Given the description of an element on the screen output the (x, y) to click on. 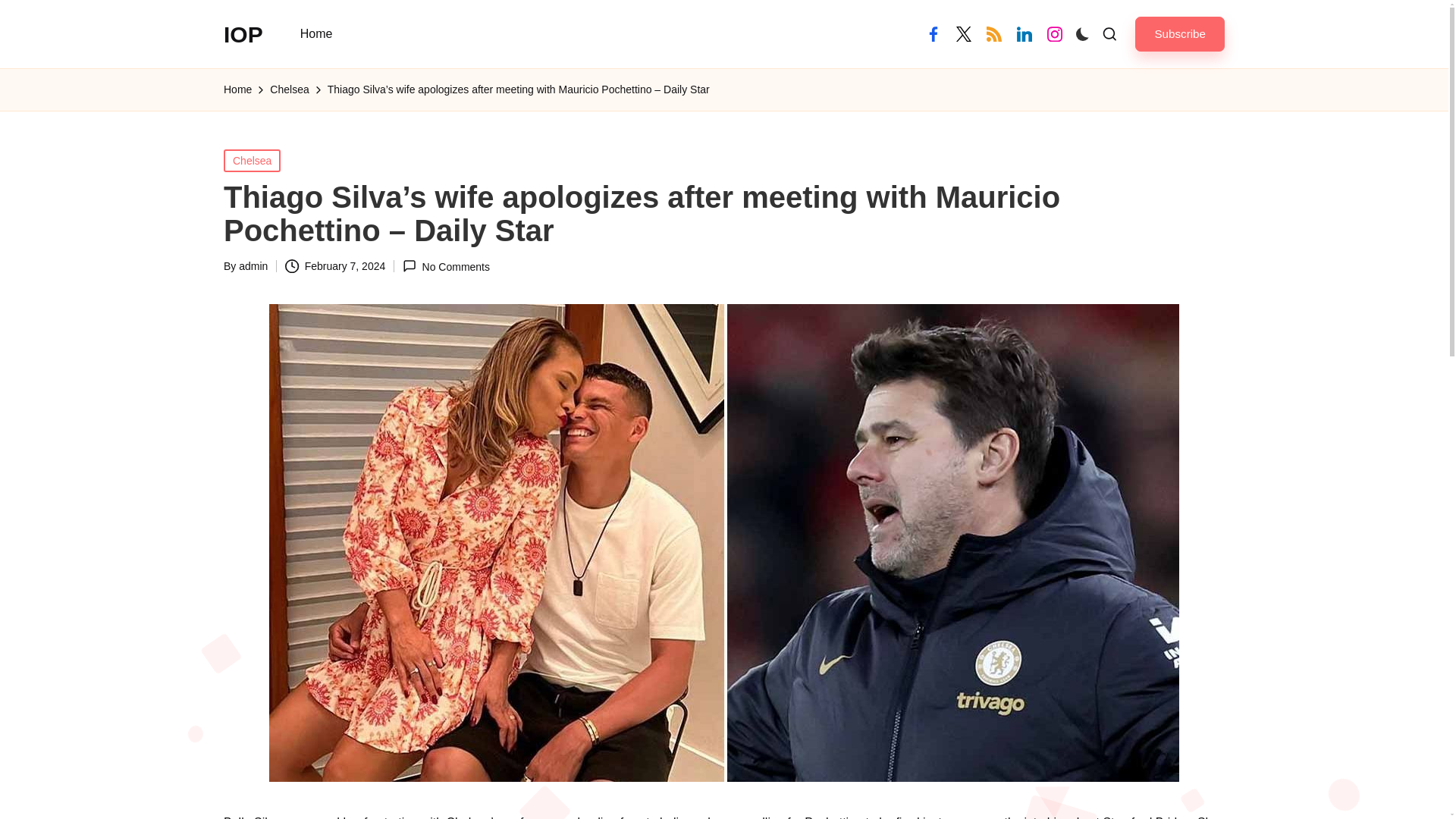
admin (252, 265)
facebook.com (933, 33)
twitter.com (963, 33)
IOP (243, 33)
rss.com (994, 33)
Chelsea (288, 89)
Chelsea (252, 159)
No Comments (446, 266)
Home (237, 89)
View all posts by admin (252, 265)
